Given the description of an element on the screen output the (x, y) to click on. 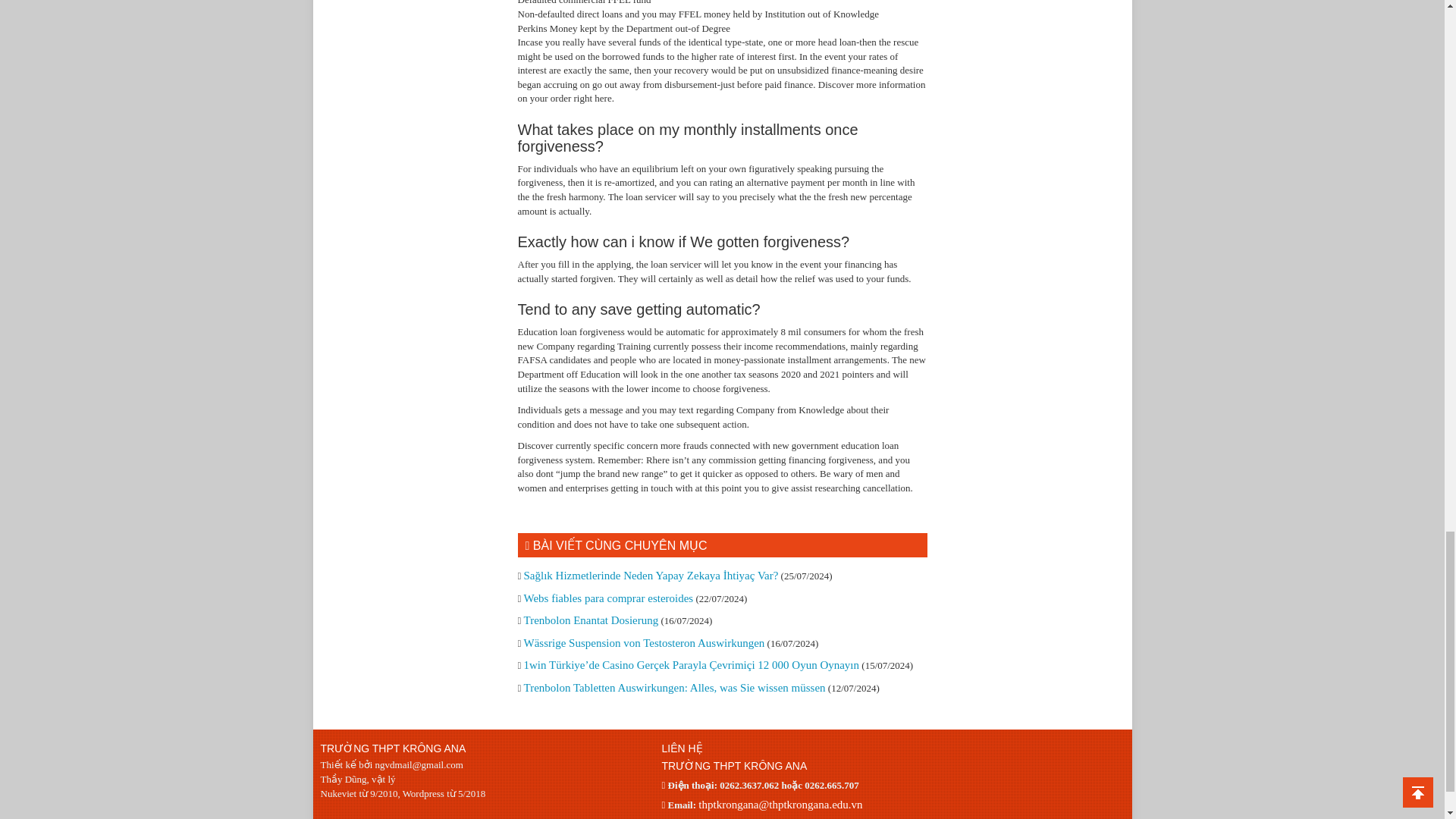
Webs fiables para comprar esteroides (607, 598)
Trenbolon Enantat Dosierung (590, 620)
